Given the description of an element on the screen output the (x, y) to click on. 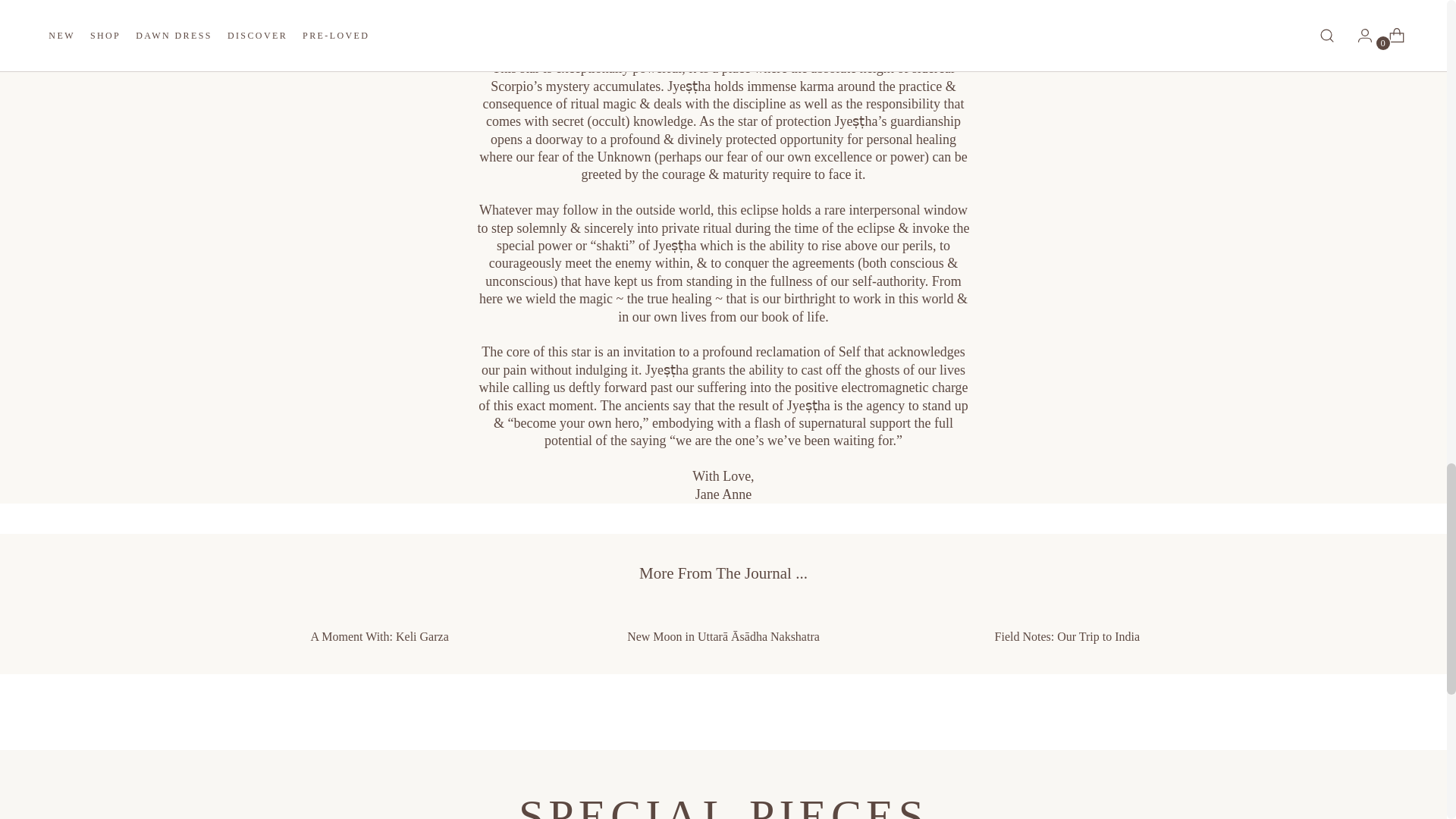
Field Notes: Our Trip to India (1067, 625)
A Moment With: Keli Garza (378, 625)
